Given the description of an element on the screen output the (x, y) to click on. 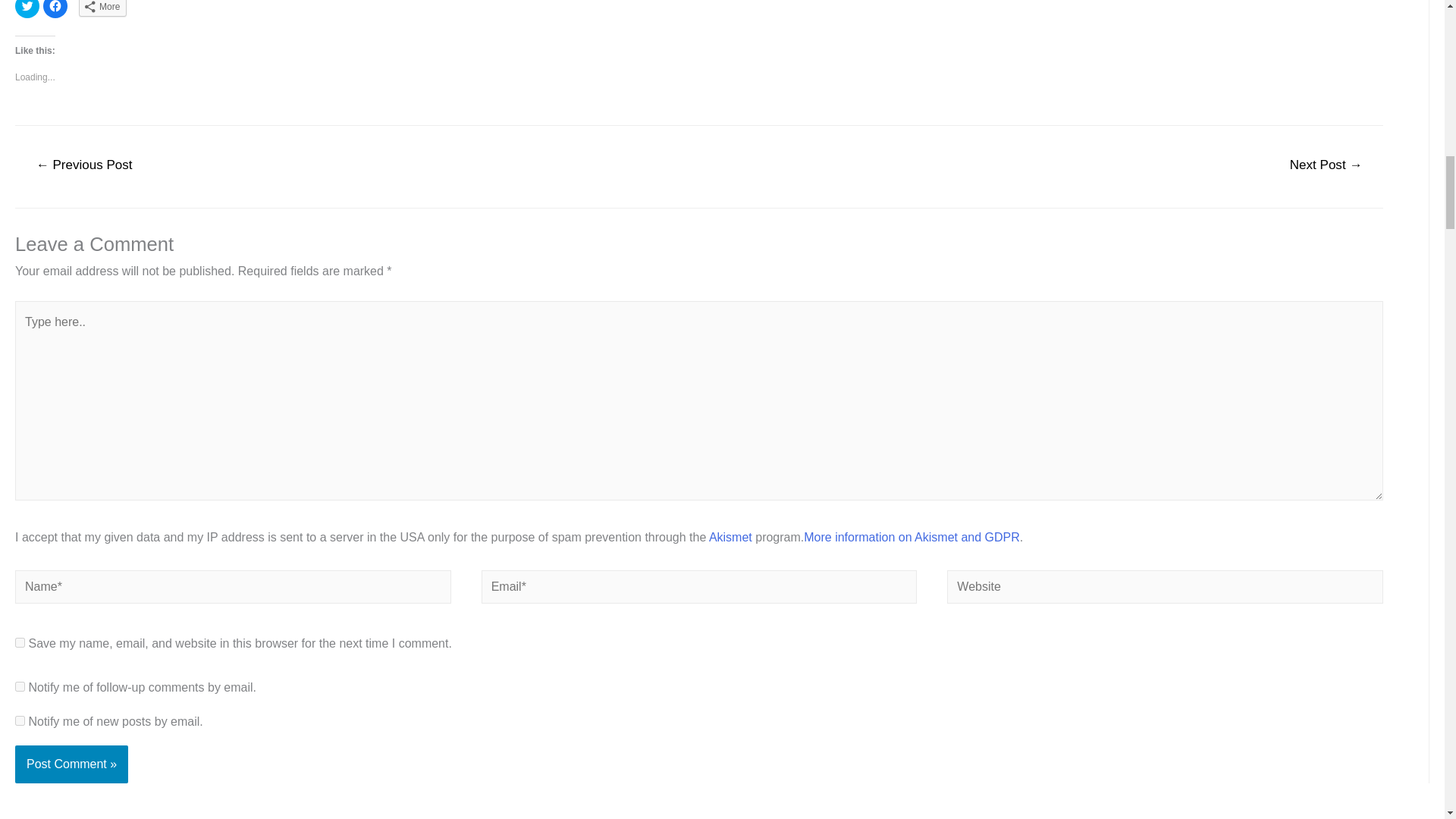
Click to share on Facebook (54, 9)
yes (19, 642)
subscribe (19, 720)
Click to share on Twitter (26, 9)
subscribe (19, 686)
